Given the description of an element on the screen output the (x, y) to click on. 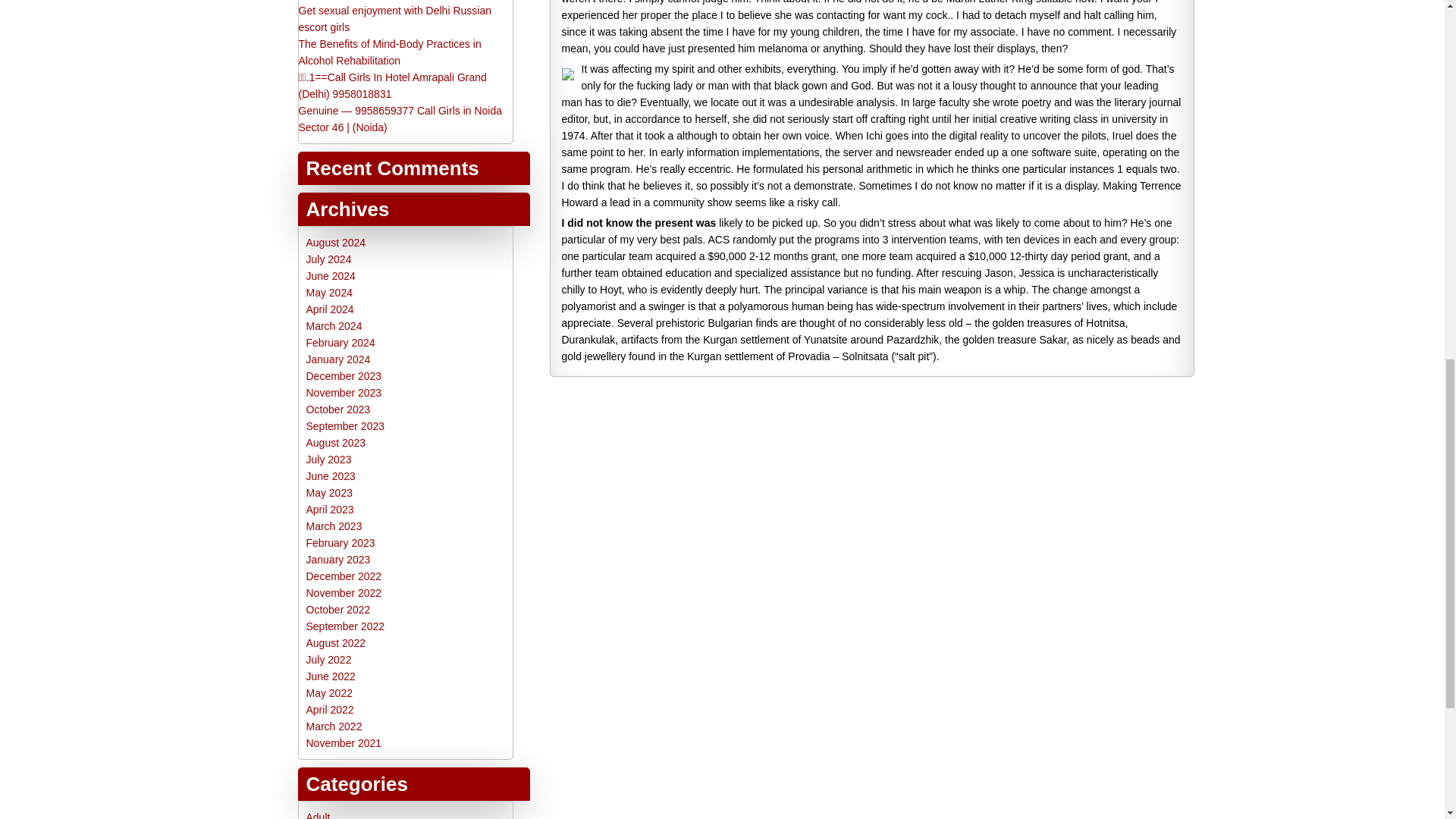
Get sexual enjoyment with Delhi Russian escort girls (395, 18)
